Given the description of an element on the screen output the (x, y) to click on. 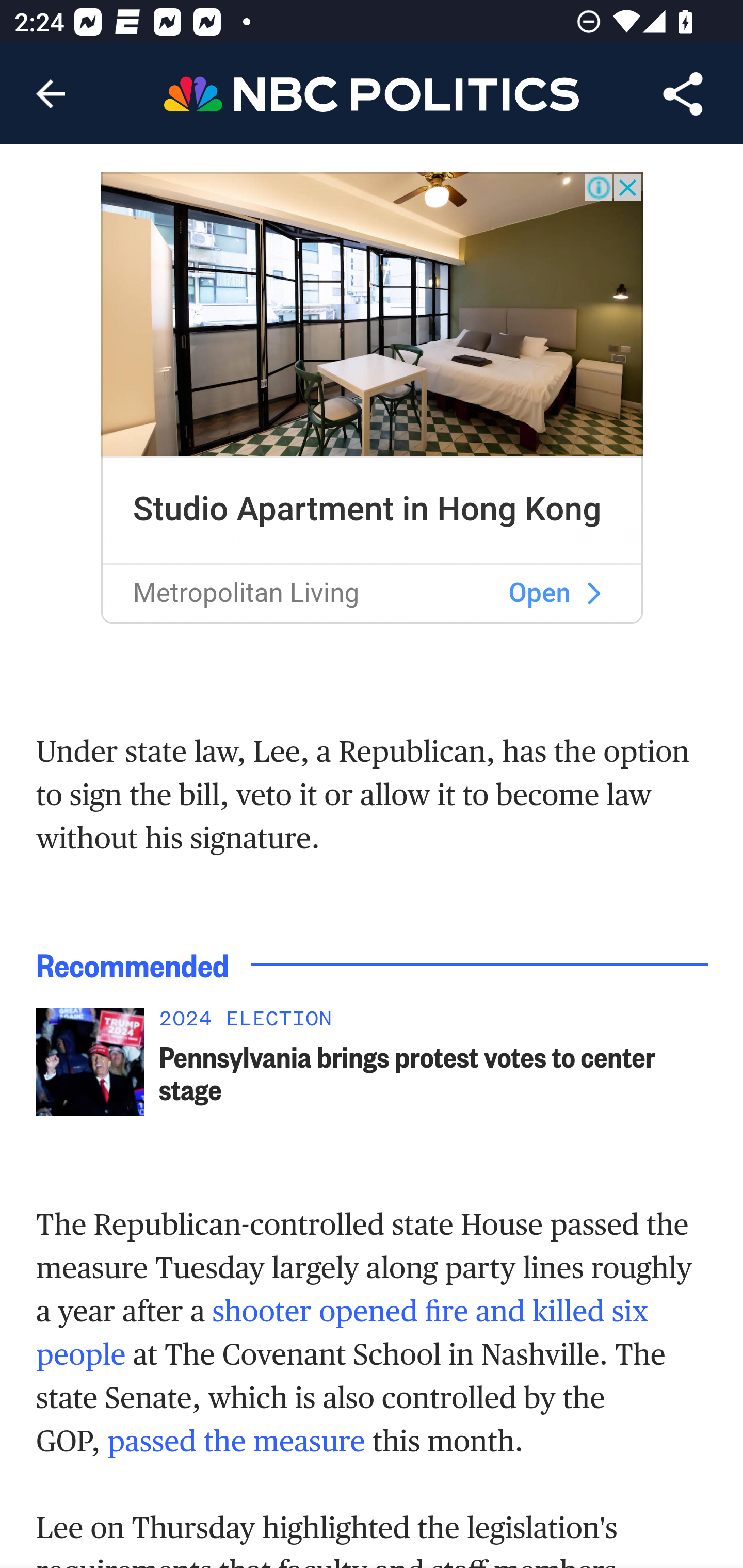
Navigate up (50, 93)
Share Article, button (683, 94)
Header, NBC Politics (371, 93)
apartments-inner2 (372, 313)
Studio Apartment in Hong Kong (367, 508)
Metropolitan Living (246, 592)
Open (539, 592)
apartments-inner2 (593, 593)
2024 ELECTION (434, 1023)
pennsylvania-trump-biden-protest-votes-rcna149261 (90, 1061)
Pennsylvania brings protest votes to center stage (434, 1073)
shooter opened fire and killed six people  (343, 1333)
passed the measure (236, 1441)
